Given the description of an element on the screen output the (x, y) to click on. 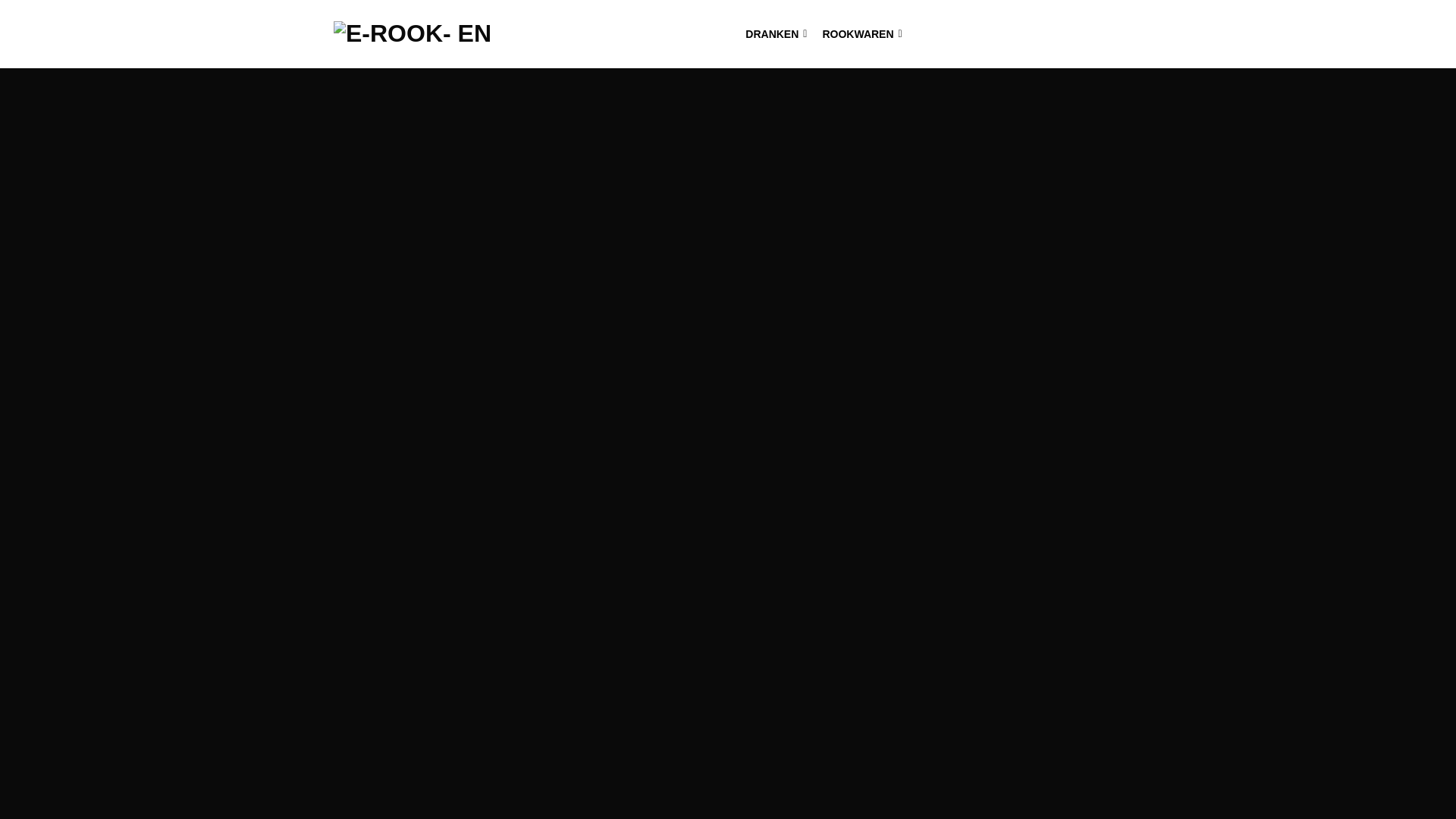
ROOKWAREN Element type: text (861, 33)
Skip to content Element type: text (0, 0)
DRANKEN Element type: text (775, 33)
